Given the description of an element on the screen output the (x, y) to click on. 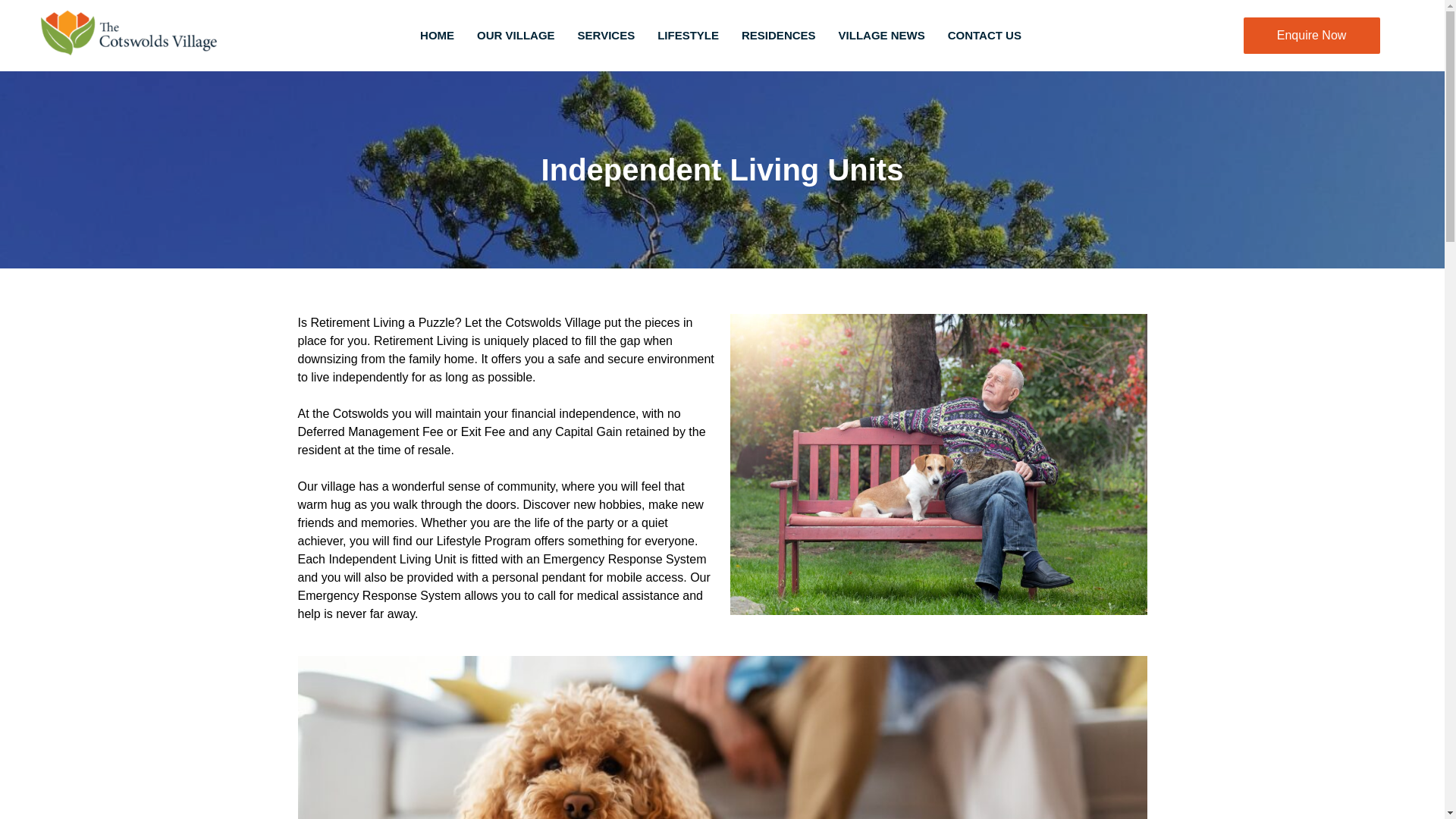
CONTACT US (984, 35)
HOME (437, 35)
OUR VILLAGE (515, 35)
VILLAGE NEWS (881, 35)
Cotswolds Village (552, 322)
SERVICES (606, 35)
LIFESTYLE (1311, 35)
RESIDENCES (688, 35)
